Given the description of an element on the screen output the (x, y) to click on. 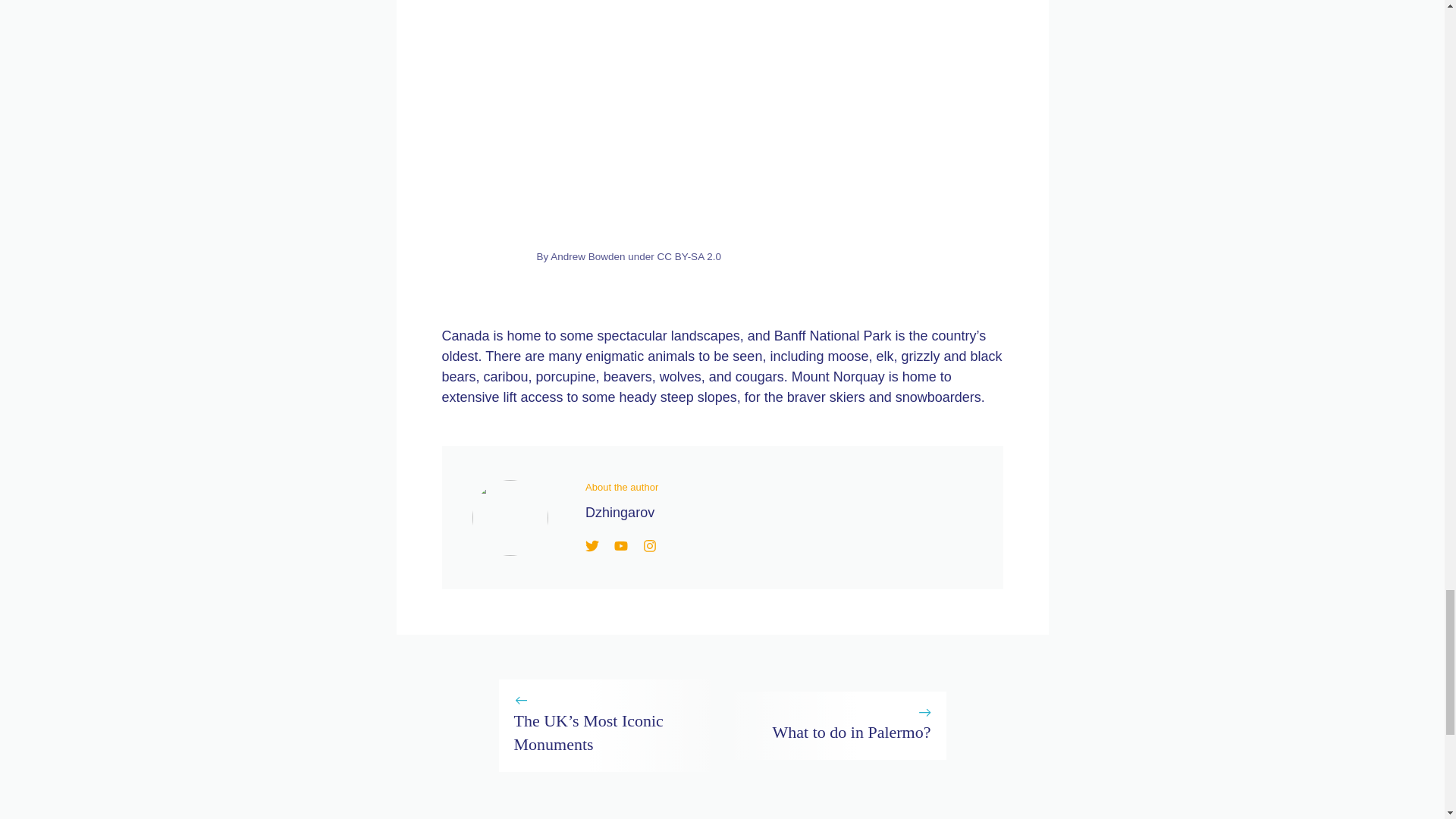
Andrew Bowden (587, 256)
Mount Norquay (722, 123)
Banff National Park (832, 335)
